Given the description of an element on the screen output the (x, y) to click on. 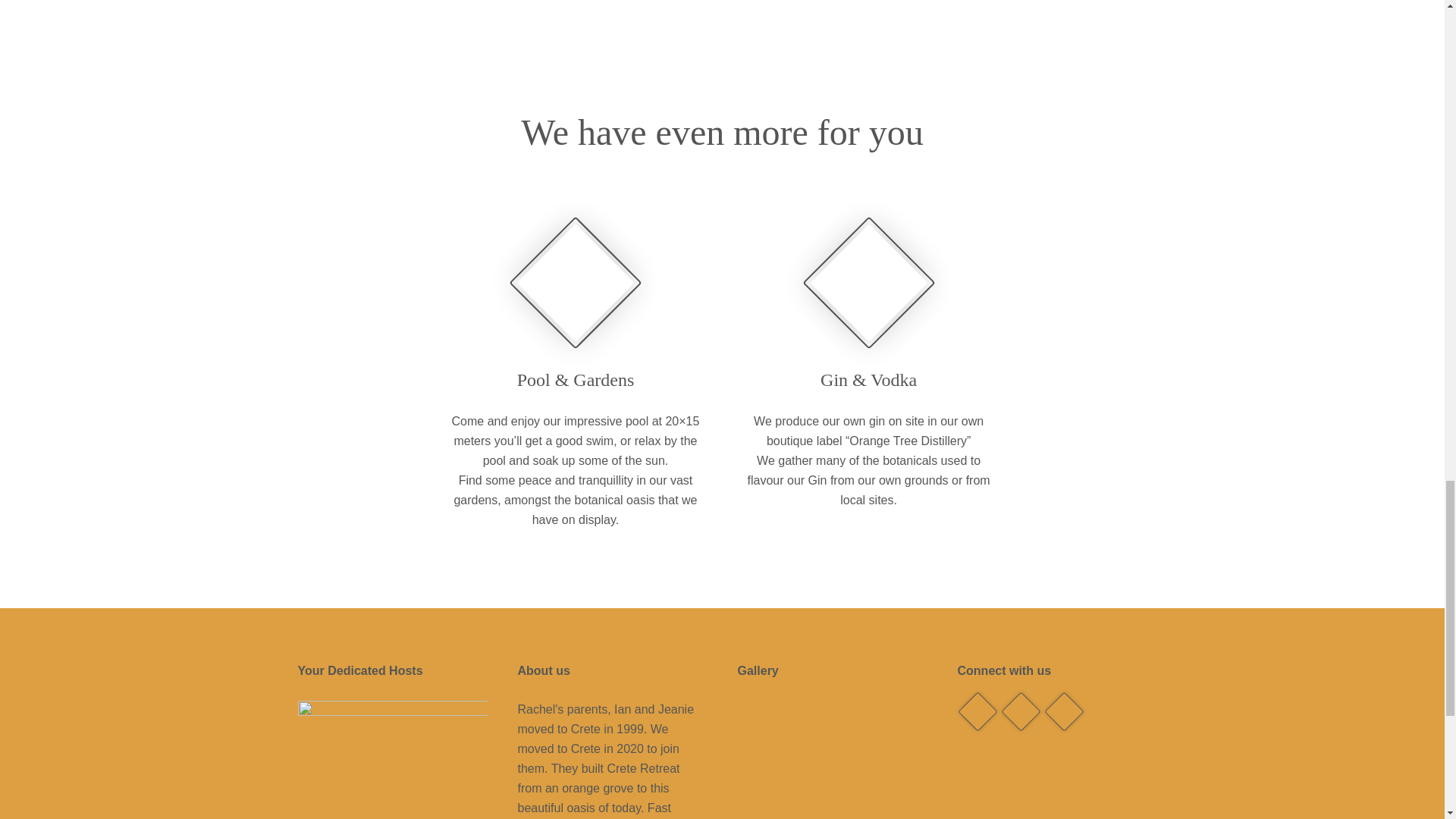
Facebook (971, 705)
Twitter (1015, 705)
Instagram (1057, 705)
